Given the description of an element on the screen output the (x, y) to click on. 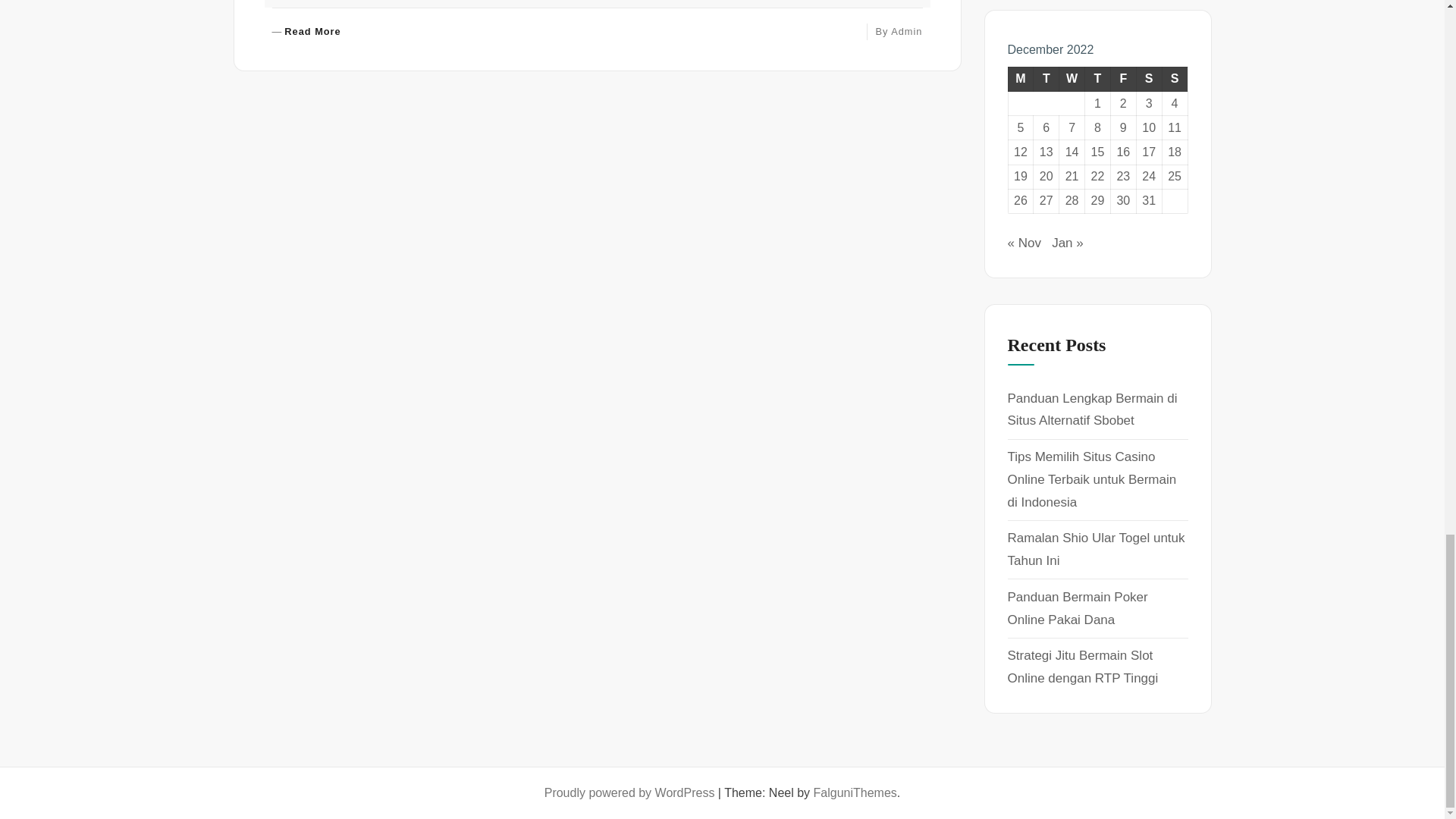
Saturday (305, 31)
Tuesday (1148, 78)
Monday (1046, 78)
Thursday (1020, 78)
Sunday (1097, 78)
Admin (1174, 78)
Friday (906, 30)
Wednesday (1122, 78)
